Given the description of an element on the screen output the (x, y) to click on. 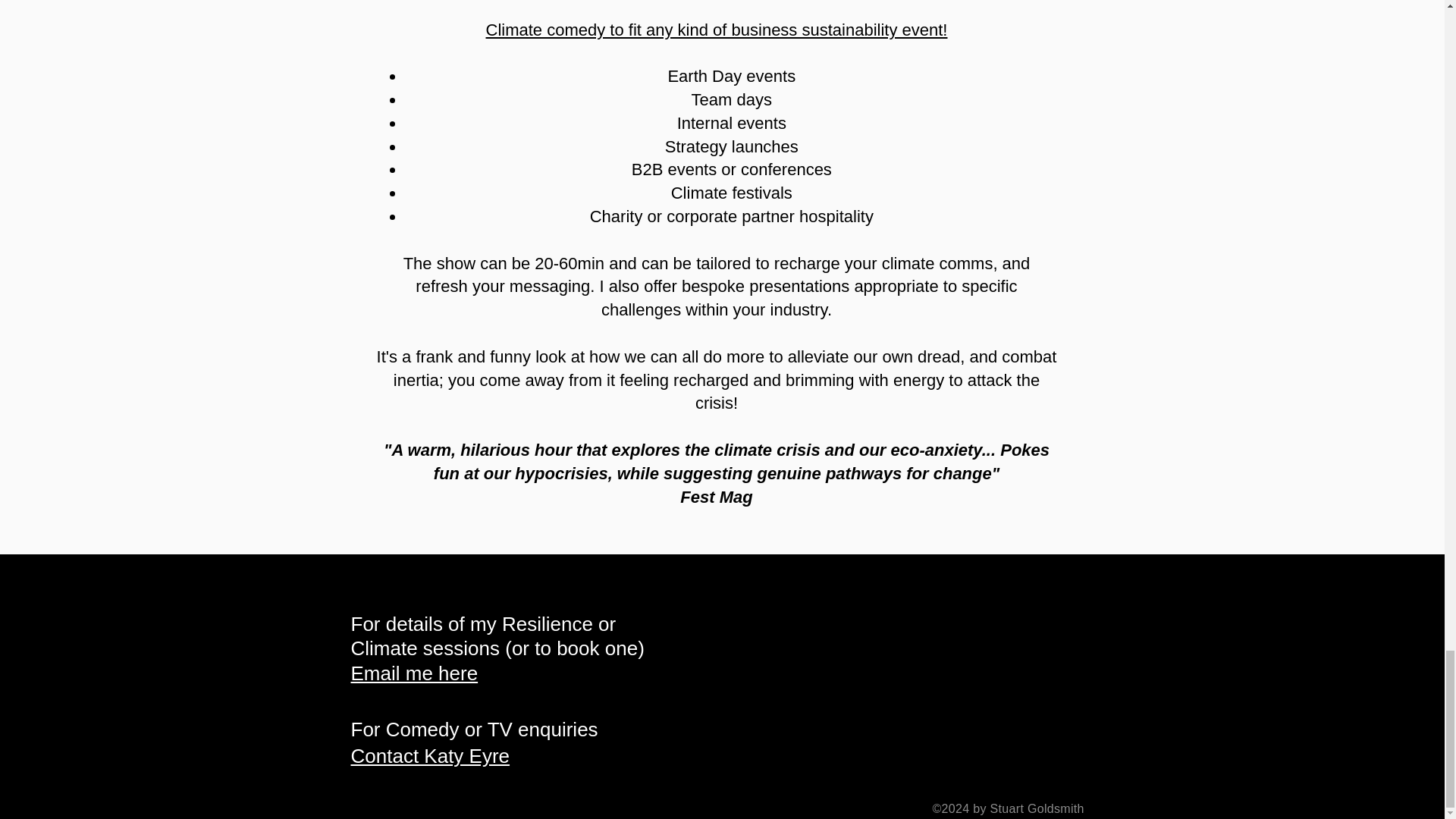
Contact Katy Eyre (429, 755)
Email me here (413, 672)
